Given the description of an element on the screen output the (x, y) to click on. 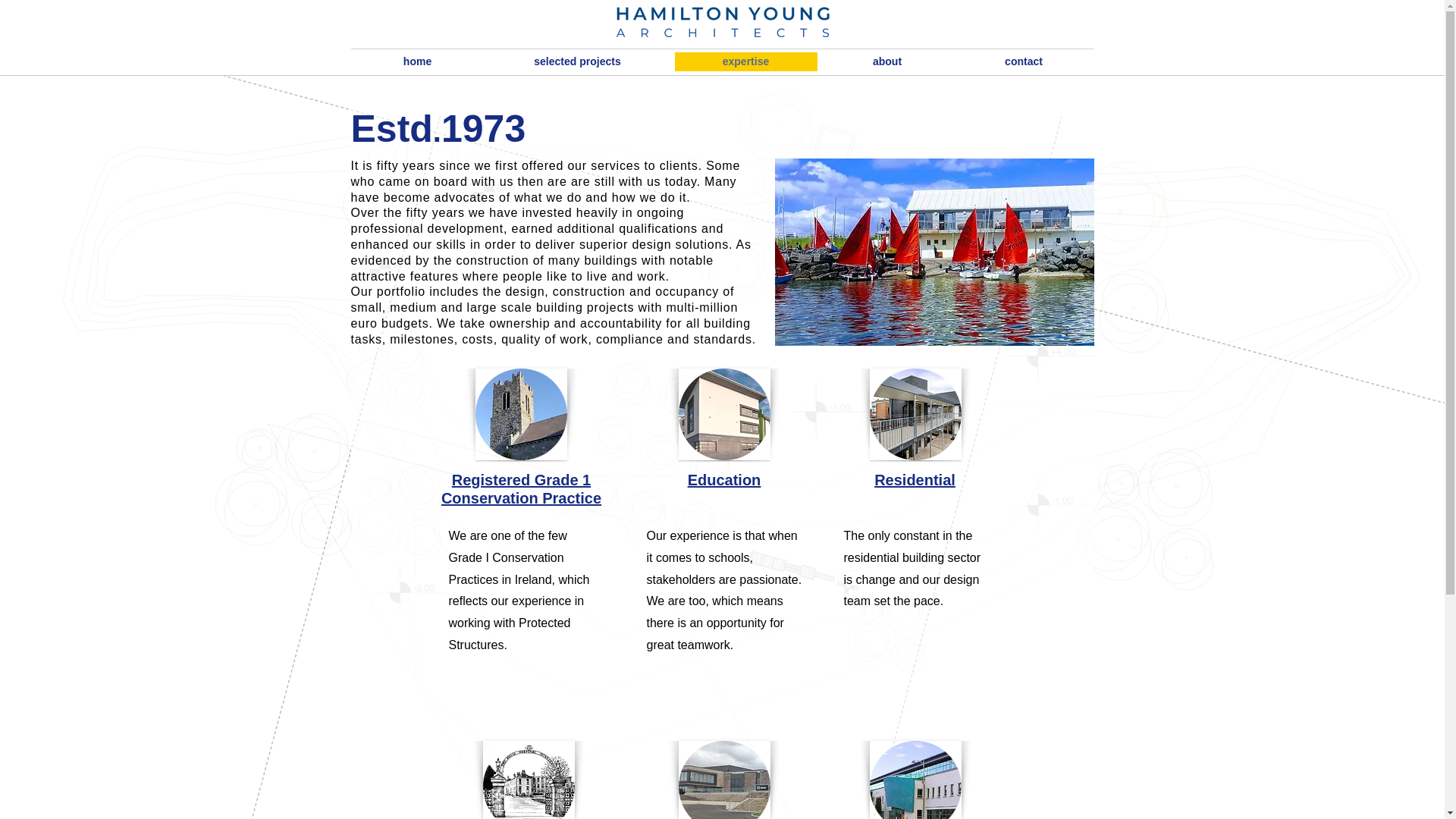
about (887, 61)
Education (724, 479)
selected projects (576, 61)
Residential (915, 479)
Registered Grade 1 Conservation Practice (521, 488)
home (417, 61)
contact (1022, 61)
expertise (745, 61)
